Given the description of an element on the screen output the (x, y) to click on. 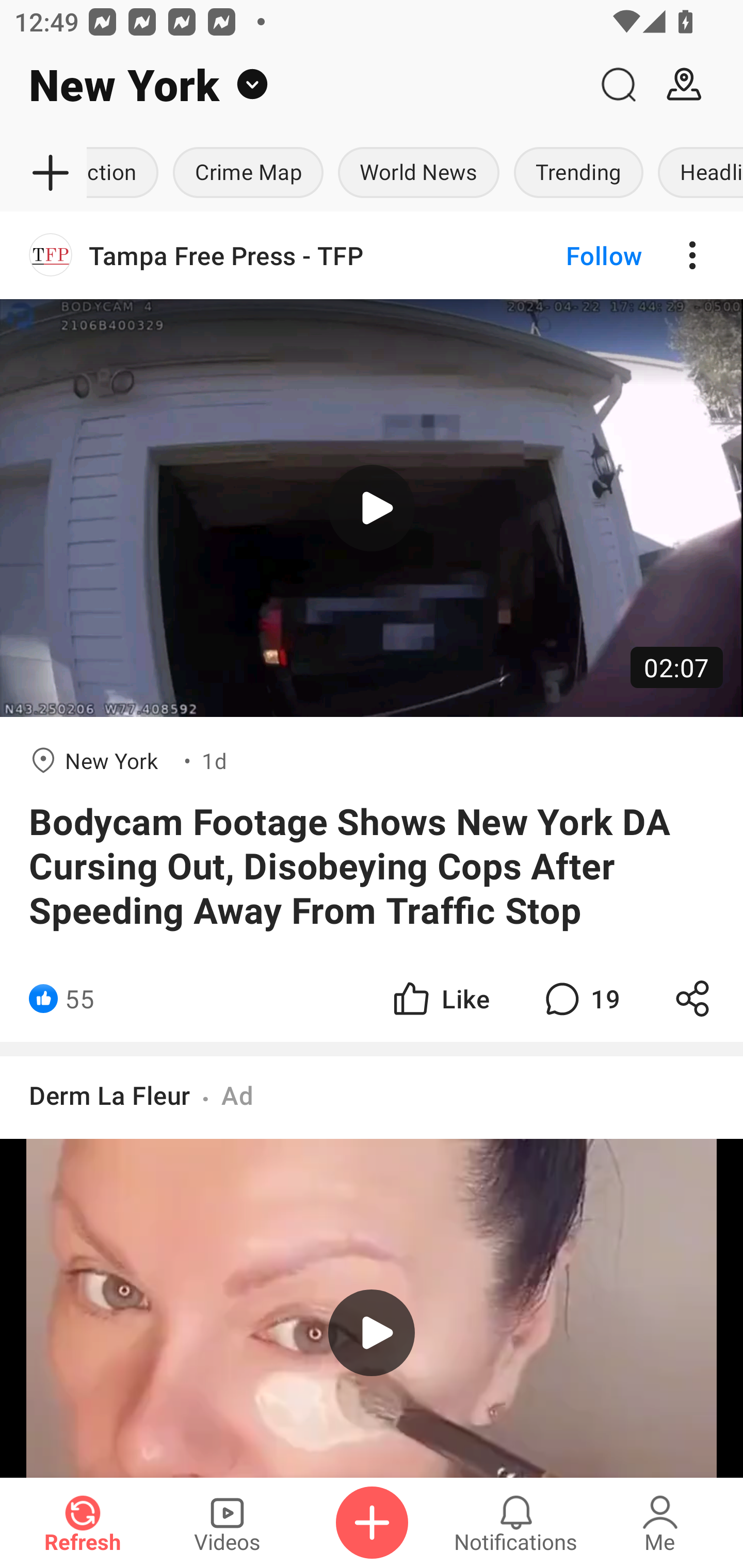
New York (292, 84)
Election (125, 172)
Crime Map (247, 172)
World News (418, 172)
Trending (578, 172)
Headlines (696, 172)
Tampa Free Press - TFP Follow (371, 255)
Follow (569, 255)
55 (79, 997)
Like (439, 997)
19 (579, 997)
Derm La Fleur (109, 1094)
Videos (227, 1522)
Notifications (516, 1522)
Me (659, 1522)
